Given the description of an element on the screen output the (x, y) to click on. 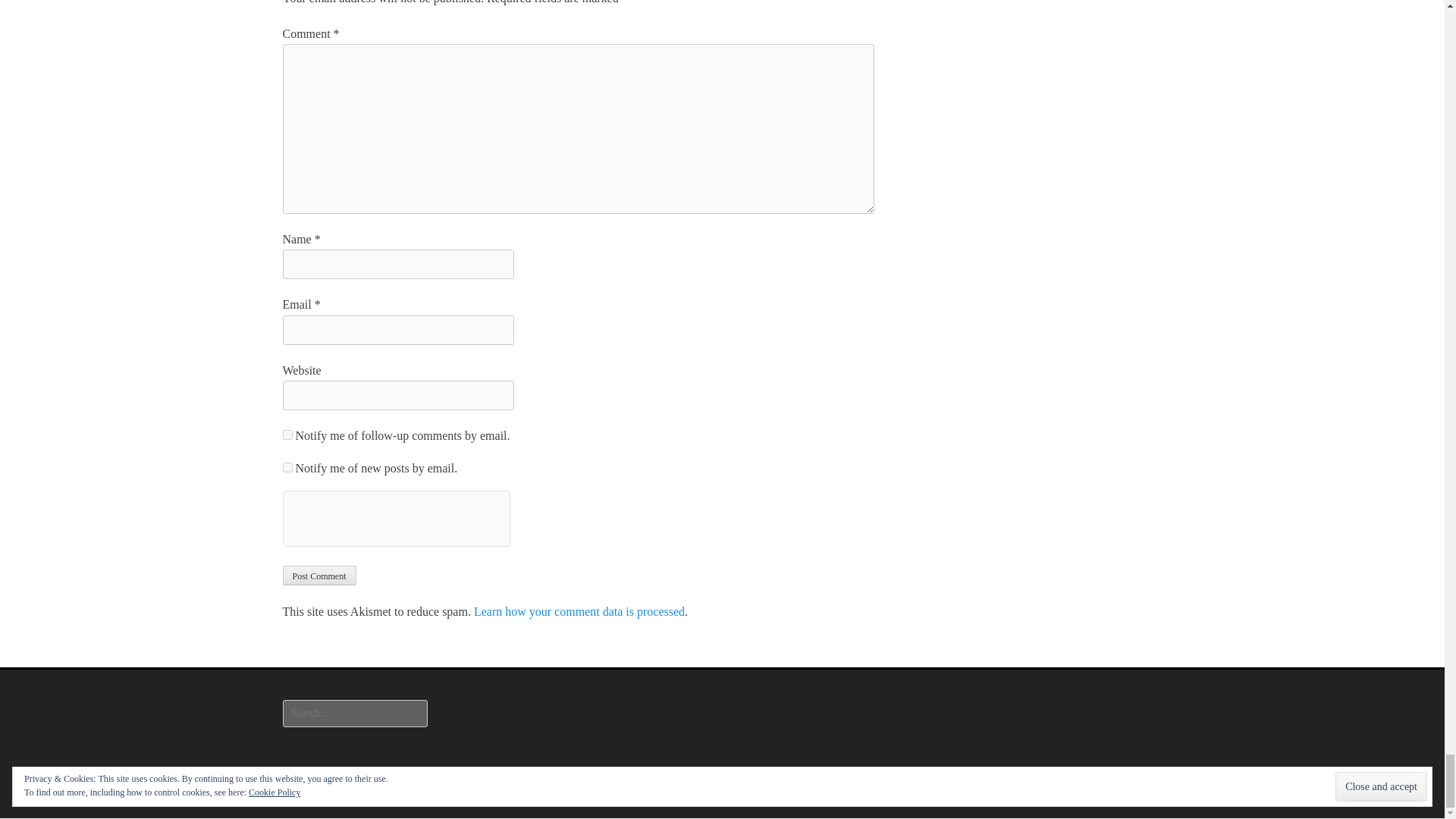
Search for: (354, 713)
subscribe (287, 467)
subscribe (287, 434)
Post Comment (318, 575)
